Given the description of an element on the screen output the (x, y) to click on. 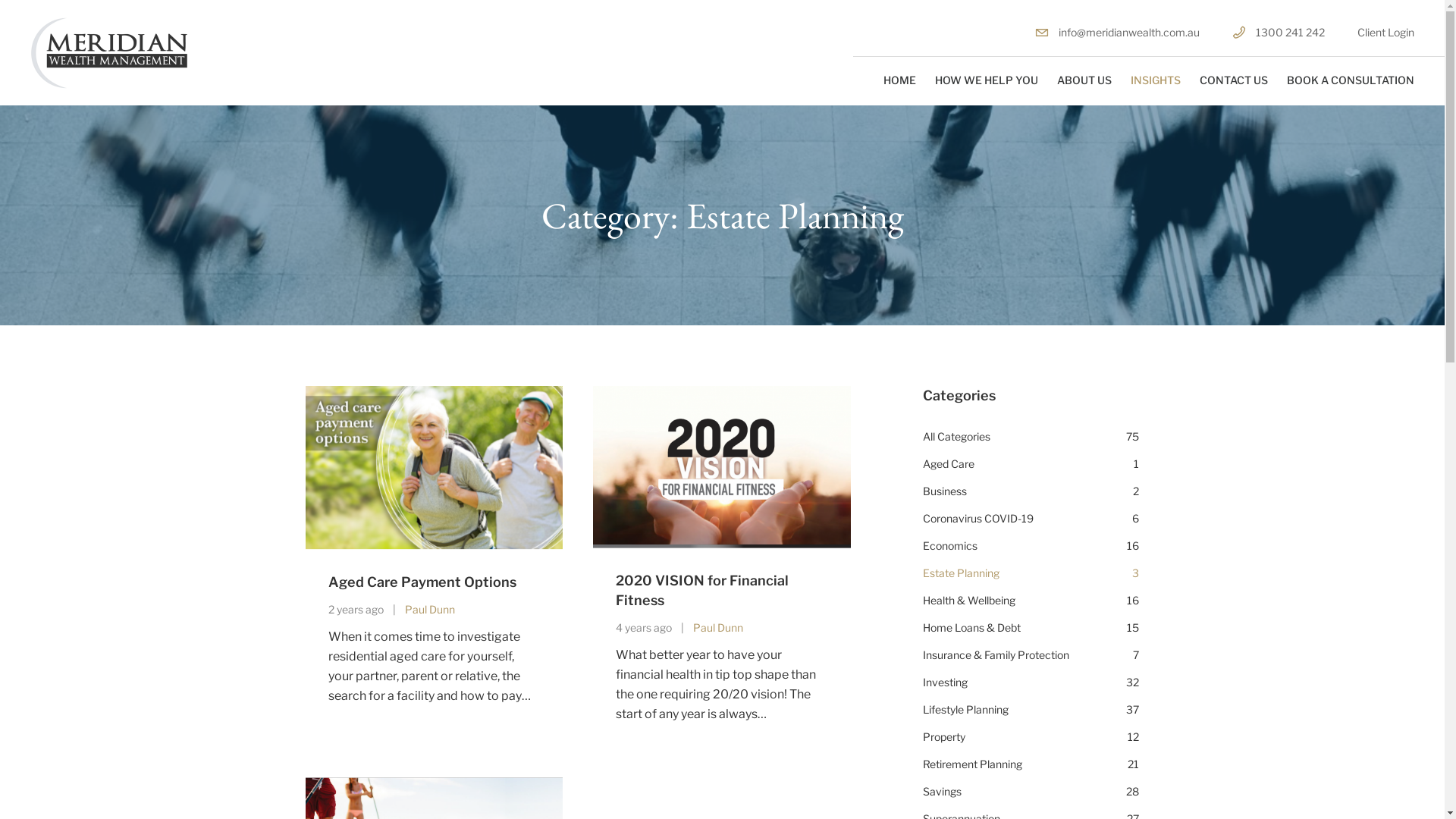
Lifestyle Planning
37 Element type: text (1030, 709)
2020 VISION for Financial Fitness Element type: text (701, 590)
1300 241 242 Element type: text (1278, 31)
Business
2 Element type: text (1030, 491)
Retirement Planning
21 Element type: text (1030, 764)
Estate Planning
3 Element type: text (1030, 572)
Economics
16 Element type: text (1030, 545)
Coronavirus COVID-19
6 Element type: text (1030, 518)
Home Loans & Debt
15 Element type: text (1030, 627)
Aged Care
1 Element type: text (1030, 463)
ABOUT US Element type: text (1084, 80)
CONTACT US Element type: text (1233, 80)
Property
12 Element type: text (1030, 736)
Aged Care Payment Options Element type: text (421, 581)
HOME Element type: text (899, 80)
All Categories
75 Element type: text (1030, 436)
Savings
28 Element type: text (1030, 791)
Insurance & Family Protection
7 Element type: text (1030, 654)
BOOK A CONSULTATION Element type: text (1350, 80)
info@meridianwealth.com.au Element type: text (1117, 31)
Paul Dunn Element type: text (718, 627)
Client Login Element type: text (1385, 31)
Investing
32 Element type: text (1030, 682)
Paul Dunn Element type: text (429, 608)
INSIGHTS Element type: text (1155, 80)
Health & Wellbeing
16 Element type: text (1030, 600)
HOW WE HELP YOU Element type: text (986, 80)
